Given the description of an element on the screen output the (x, y) to click on. 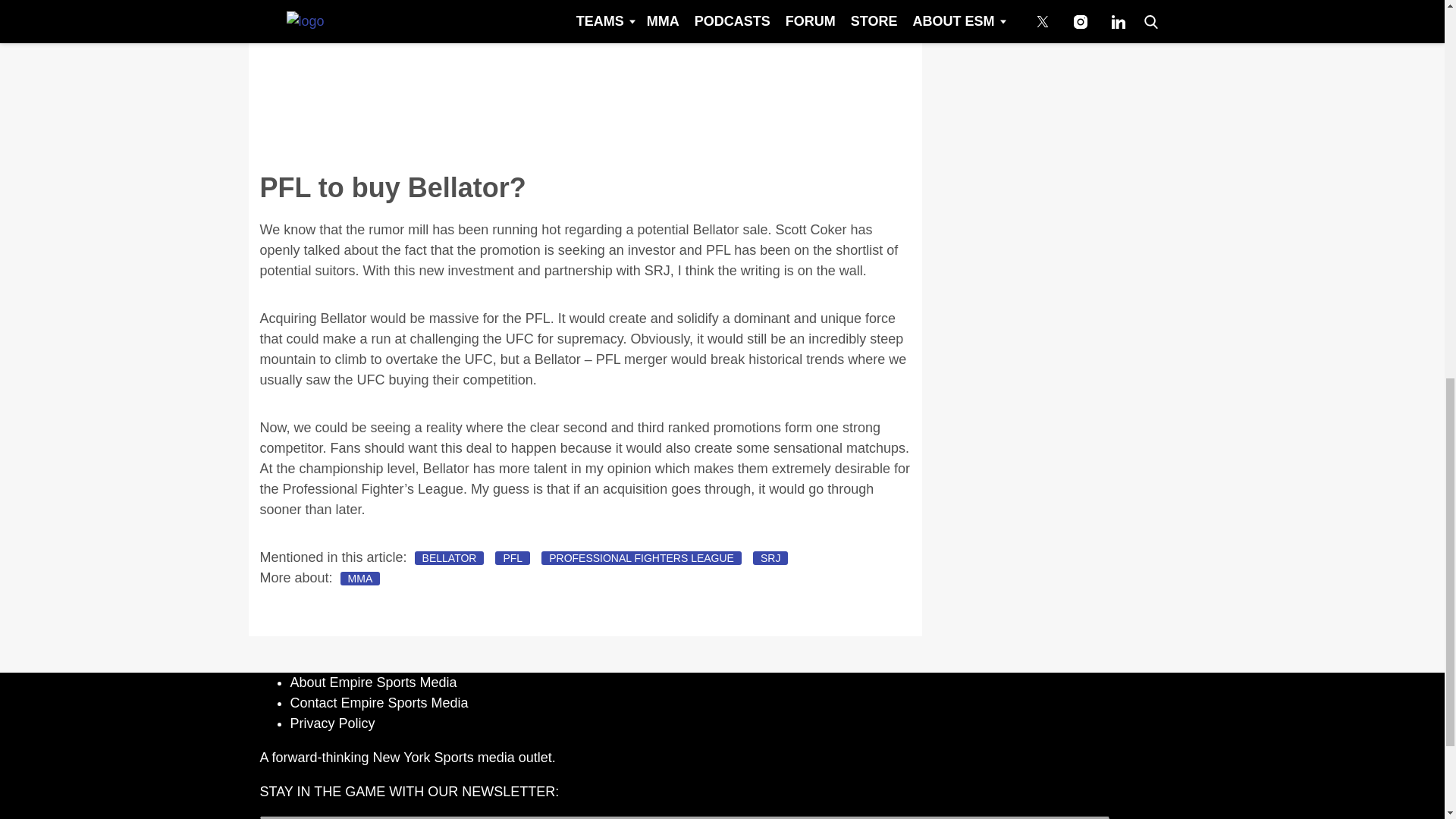
About Empire Sports Media (373, 682)
MMA (360, 578)
PFL (512, 558)
PROFESSIONAL FIGHTERS LEAGUE (641, 558)
Privacy Policy (331, 723)
Sign Up (1145, 817)
Contact Empire Sports Media (378, 702)
BELLATOR (449, 558)
SRJ (769, 558)
